Given the description of an element on the screen output the (x, y) to click on. 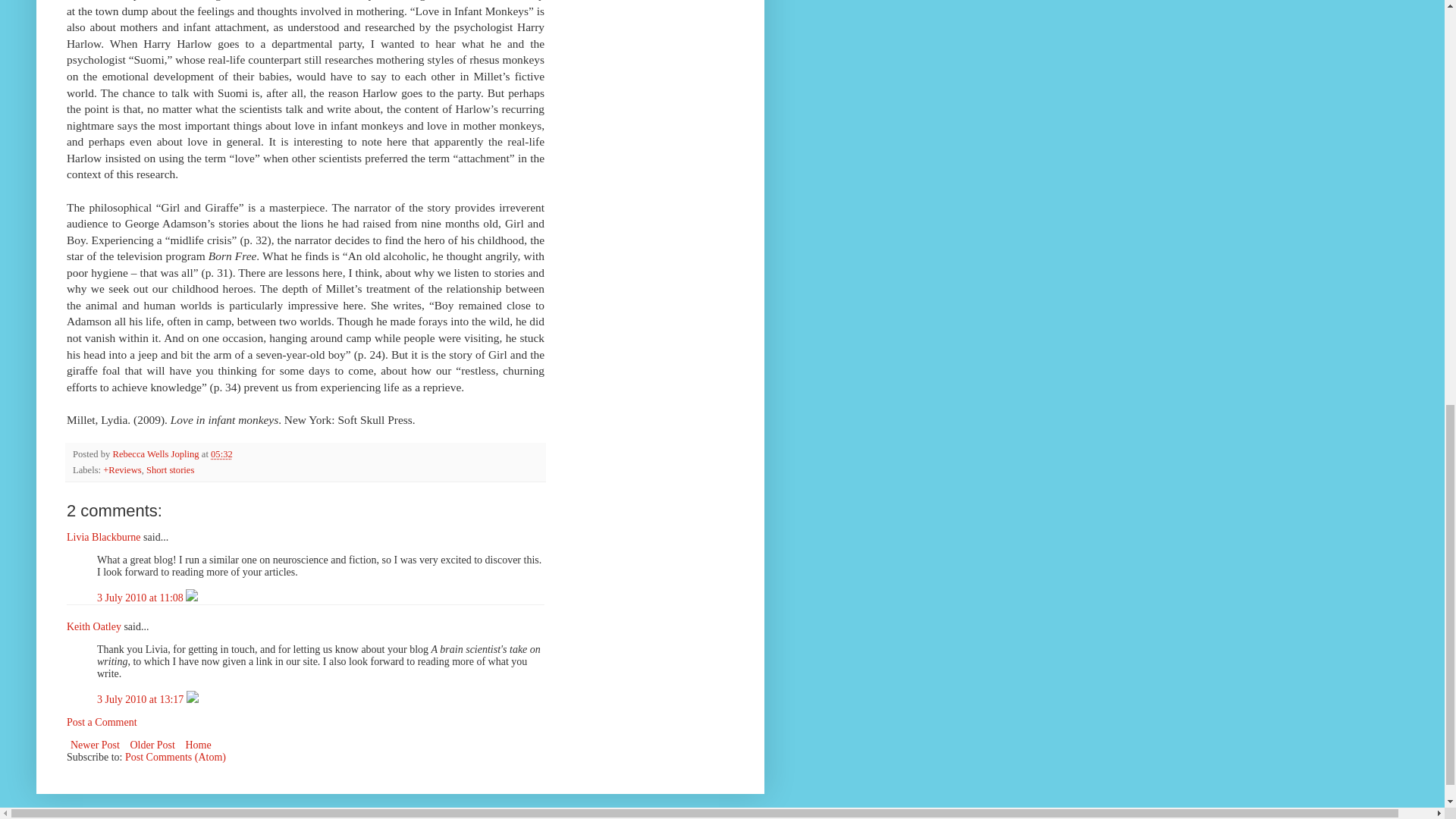
3 July 2010 at 13:17 (141, 699)
comment permalink (141, 597)
Rebecca Wells Jopling (156, 453)
author profile (156, 453)
Newer Post (94, 744)
Older Post (152, 744)
Keith Oatley (93, 626)
Post a Comment (101, 722)
Delete Comment (192, 699)
3 July 2010 at 11:08 (141, 597)
